Given the description of an element on the screen output the (x, y) to click on. 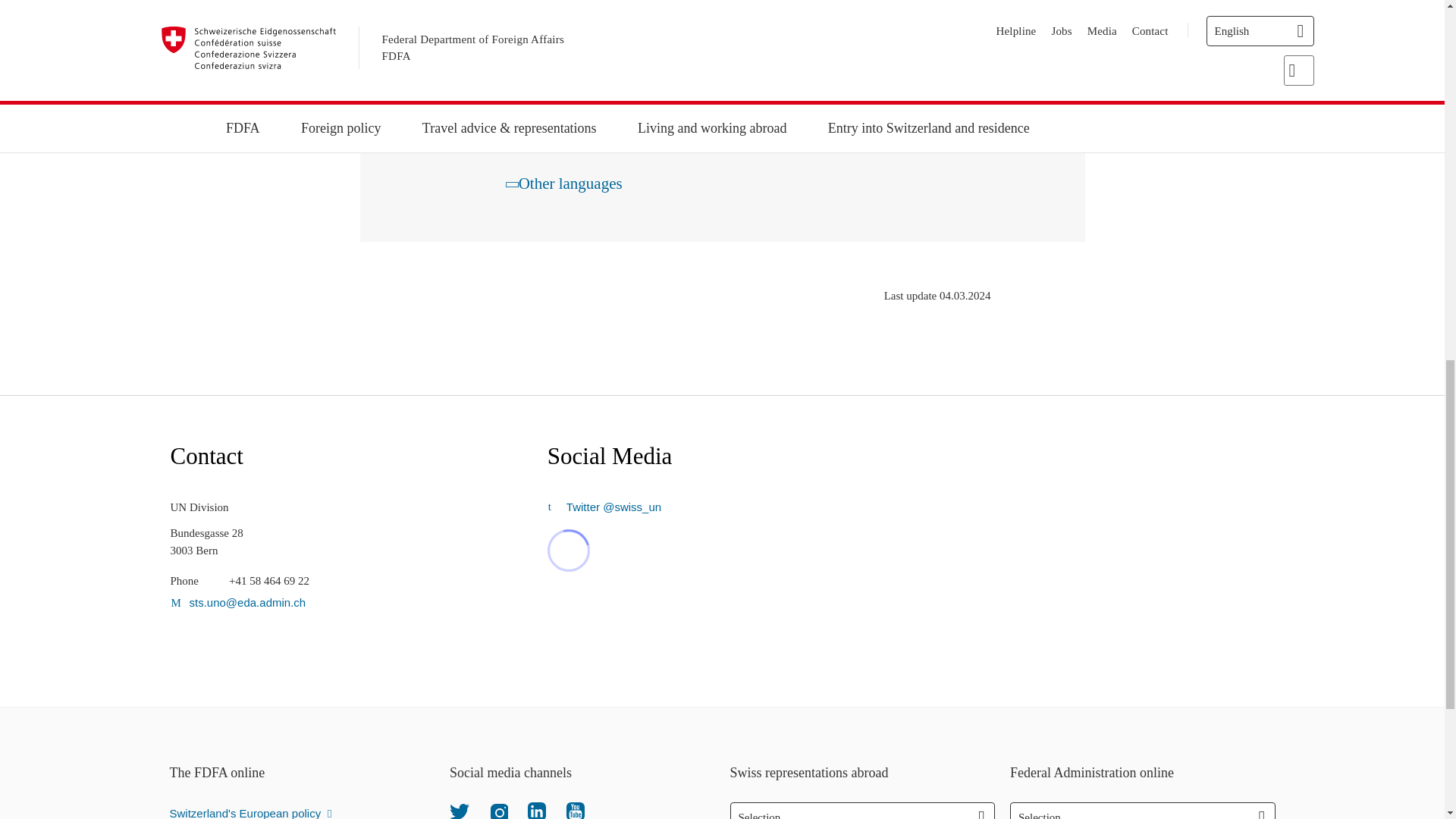
Instagram (497, 810)
LinkedIn (537, 810)
Twitter (458, 810)
